Given the description of an element on the screen output the (x, y) to click on. 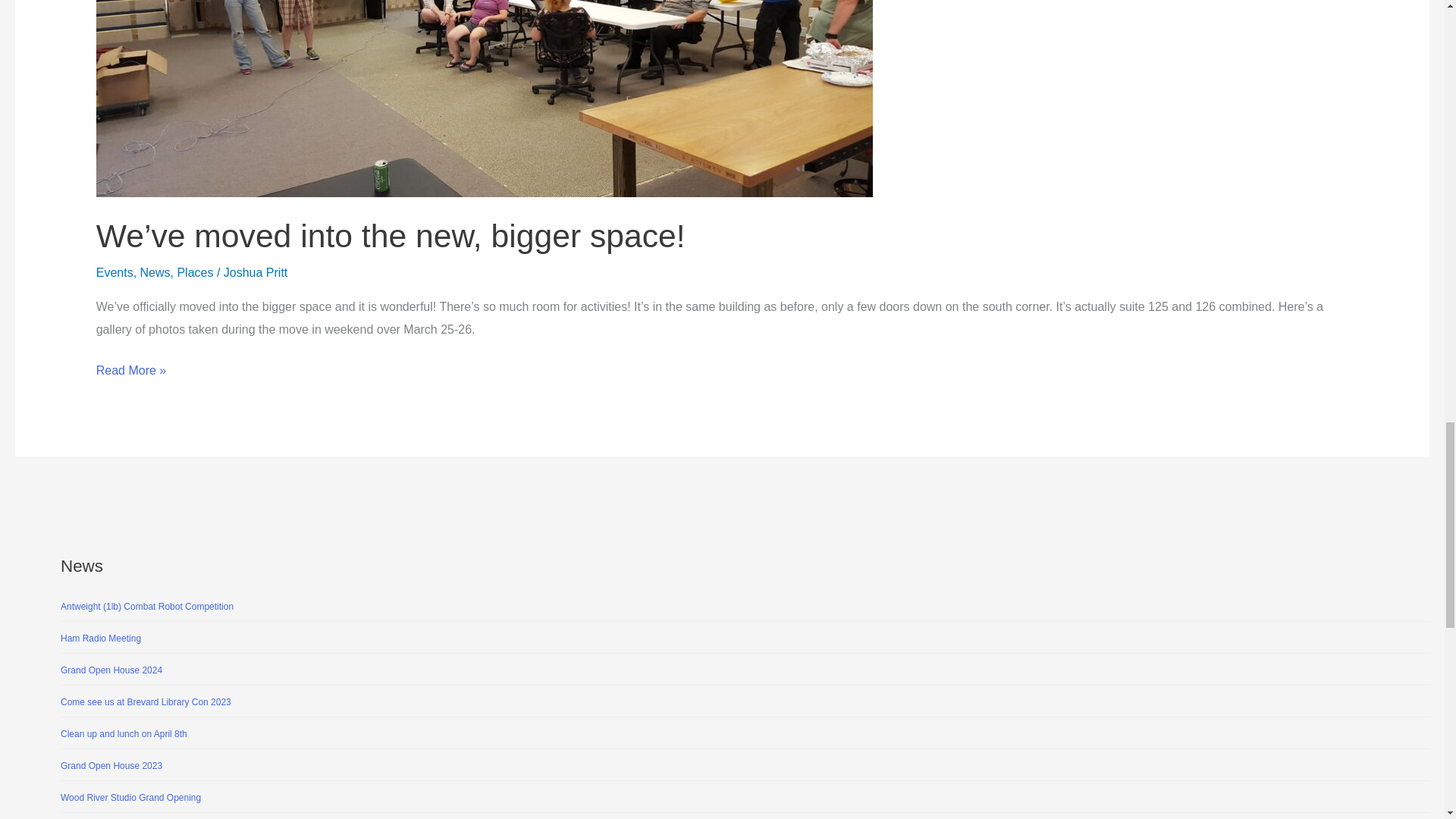
Clean up and lunch on April 8th (124, 733)
Ham Radio Meeting (101, 638)
News (154, 272)
Grand Open House 2024 (111, 670)
Come see us at Brevard Library Con 2023 (146, 701)
Grand Open House 2023 (111, 765)
Joshua Pritt (255, 272)
Places (194, 272)
View all posts by Joshua Pritt (255, 272)
Events (114, 272)
